Given the description of an element on the screen output the (x, y) to click on. 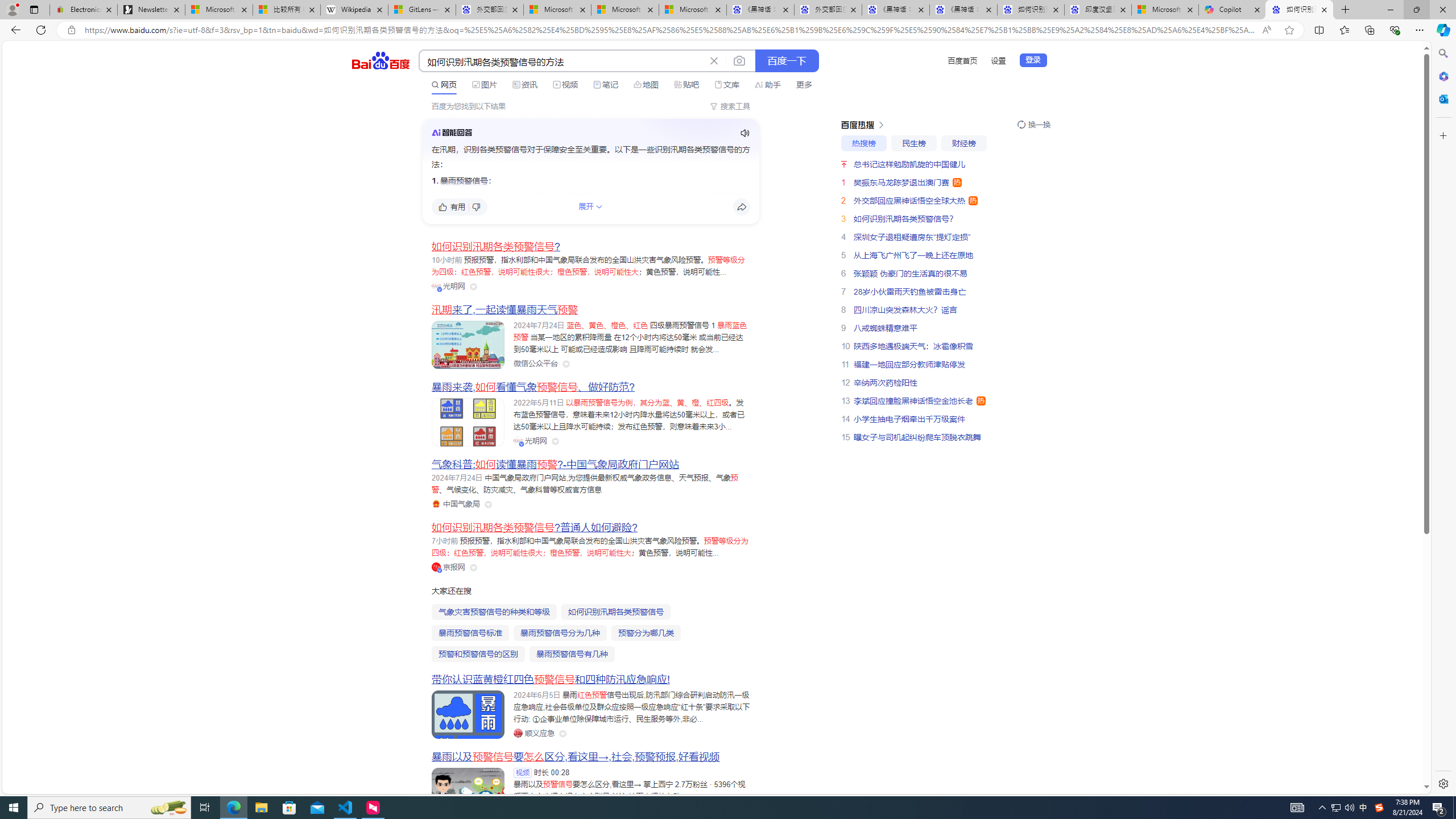
Class: vip-icon_kNmNt (439, 570)
